Given the description of an element on the screen output the (x, y) to click on. 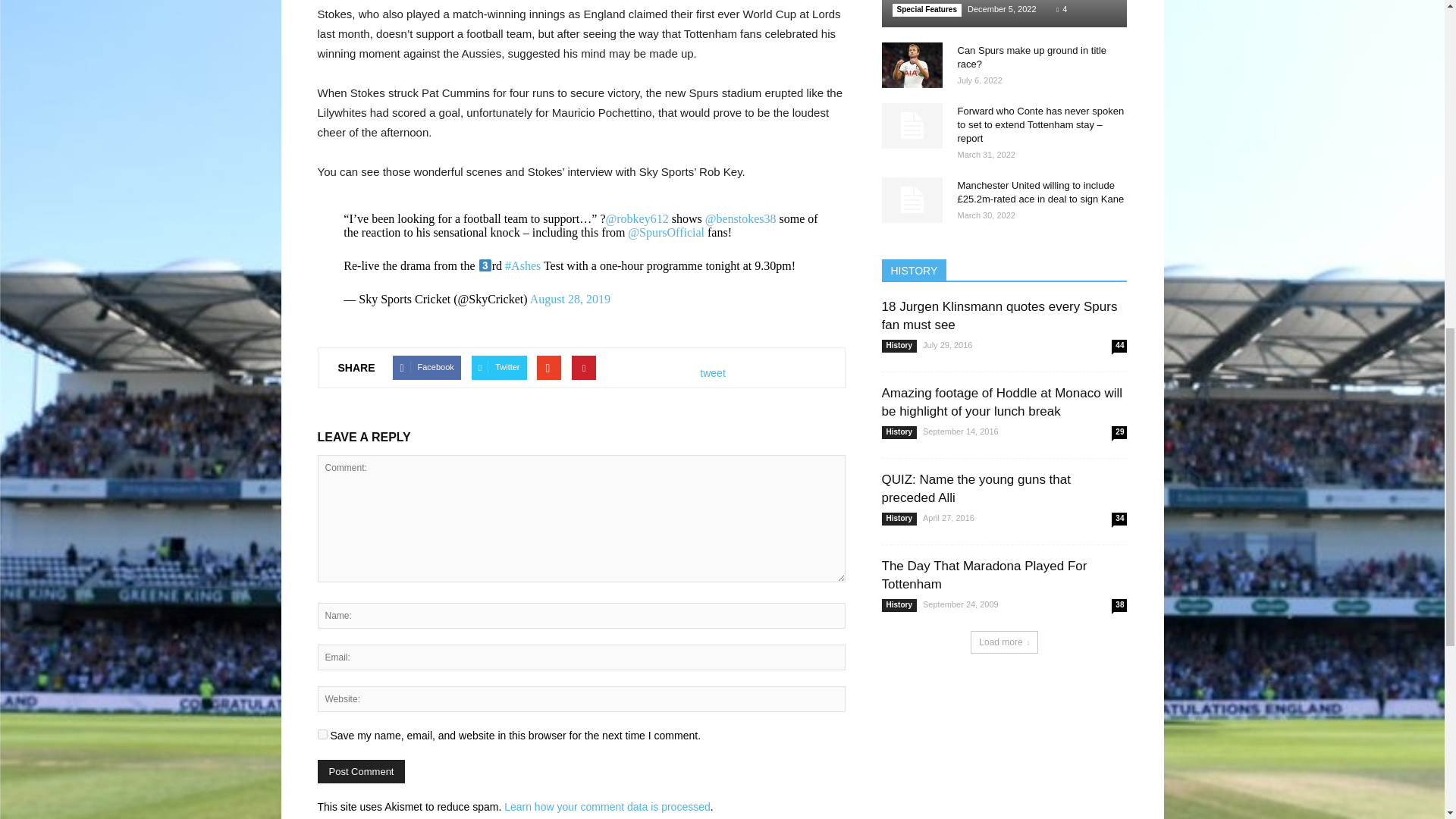
Will Son shine at the 2022 World Cup? (1003, 13)
Can Spurs make up ground in title race? (1031, 57)
QUIZ: Name the young guns that preceded Alli (975, 488)
yes (321, 734)
18 Jurgen Klinsmann quotes every Spurs fan must see (998, 315)
Can Spurs make up ground in title race? (911, 64)
Post Comment (360, 771)
